Given the description of an element on the screen output the (x, y) to click on. 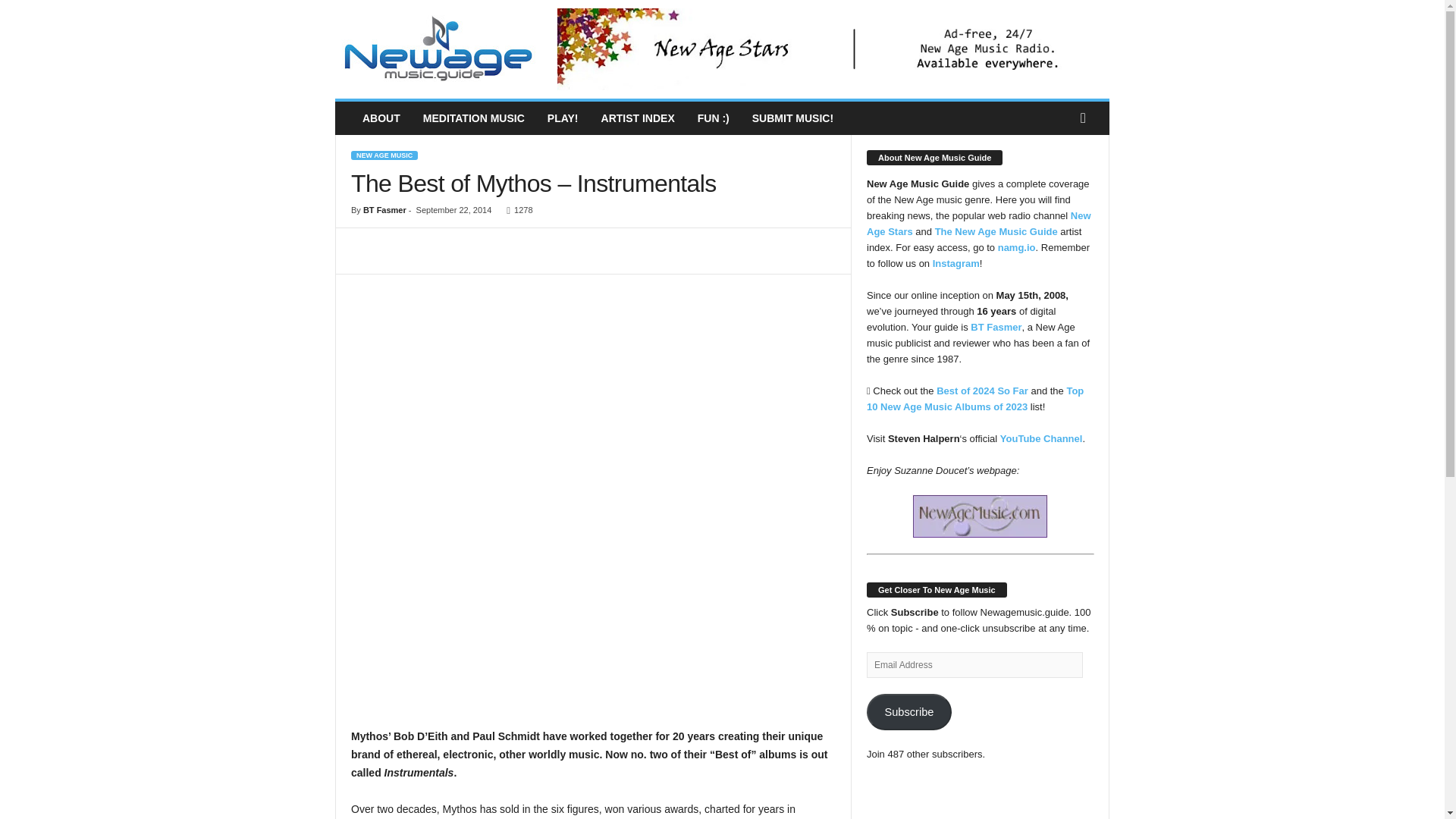
ABOUT (381, 118)
New Age Music Guide (437, 48)
